Given the description of an element on the screen output the (x, y) to click on. 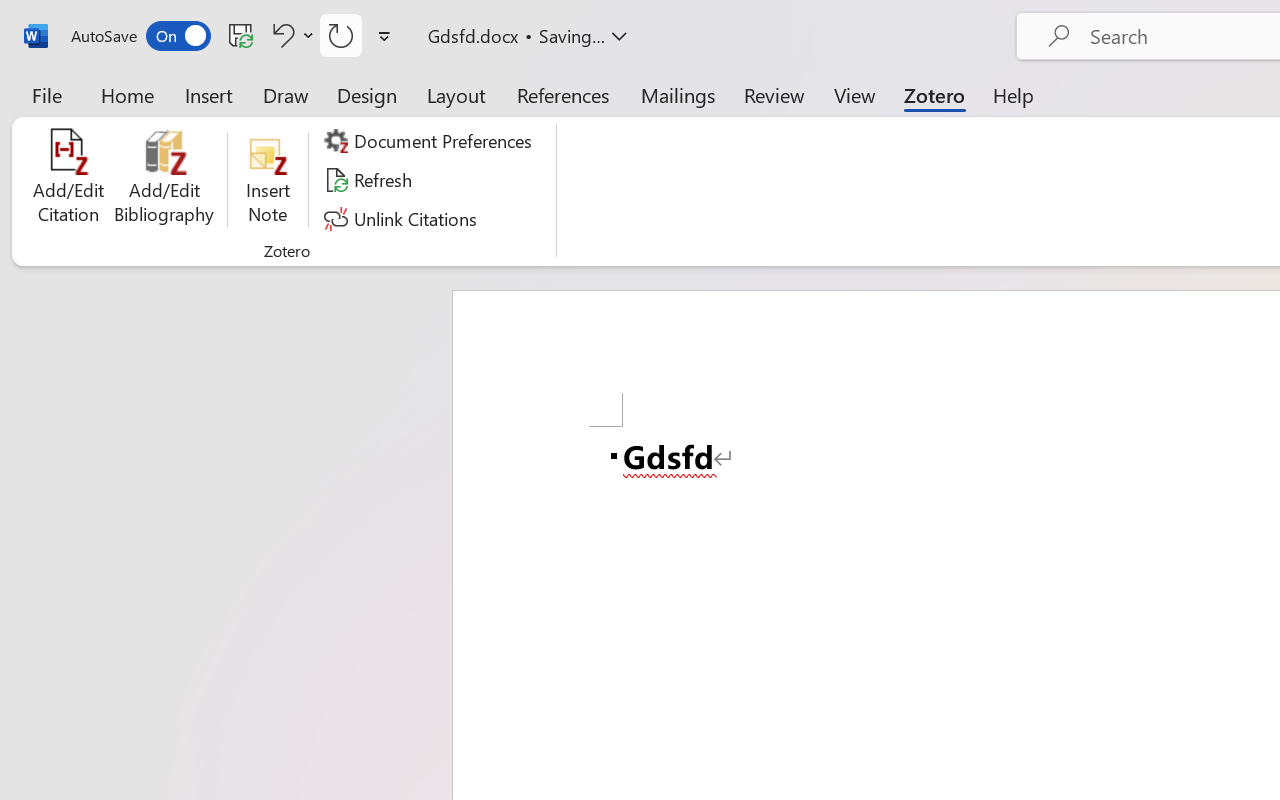
Insert Note (267, 179)
Undo <ApplyStyleToDoc>b__0 (290, 35)
Refresh (370, 179)
Repeat Style (341, 35)
Add/Edit Citation (68, 179)
